Given the description of an element on the screen output the (x, y) to click on. 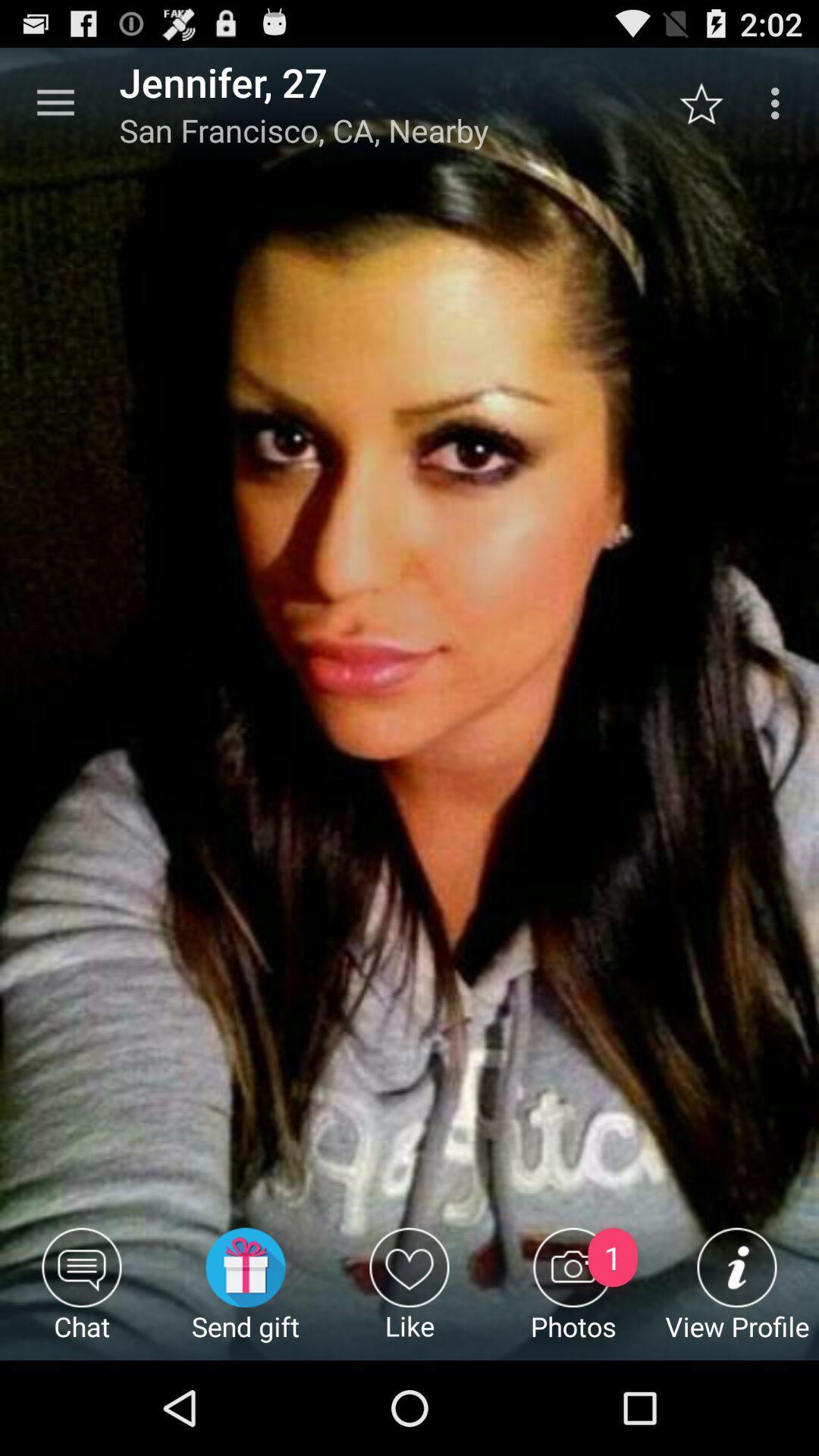
tap the chat (81, 1293)
